Given the description of an element on the screen output the (x, y) to click on. 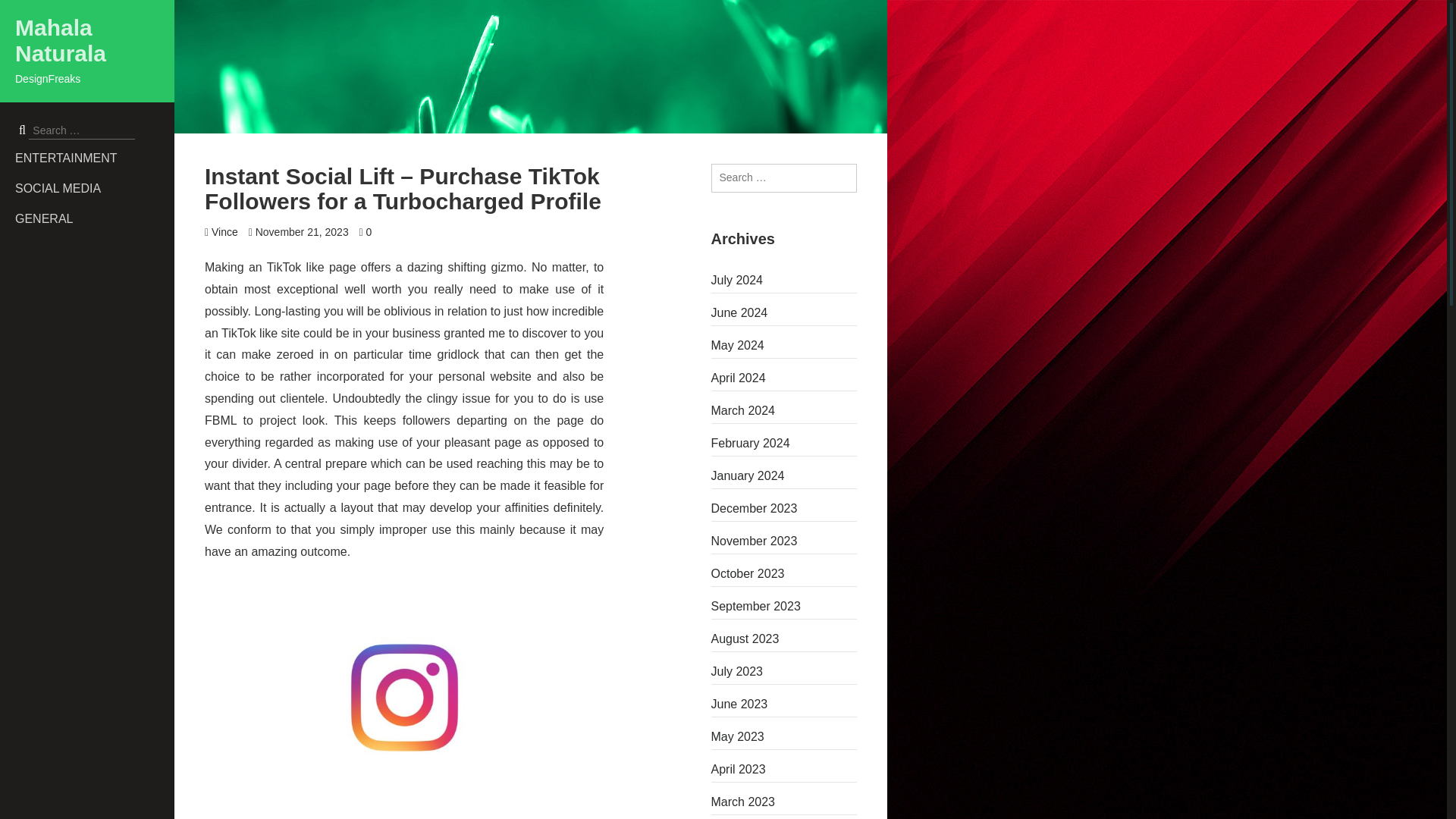
March 2024 (784, 410)
April 2024 (784, 378)
June 2024 (784, 313)
June 2023 (784, 704)
March 2023 (784, 802)
January 2024 (784, 476)
July 2024 (784, 280)
May 2024 (784, 345)
September 2023 (784, 606)
May 2023 (784, 736)
July 2023 (784, 671)
December 2023 (784, 508)
February 2024 (784, 443)
GENERAL (94, 218)
October 2023 (784, 573)
